Given the description of an element on the screen output the (x, y) to click on. 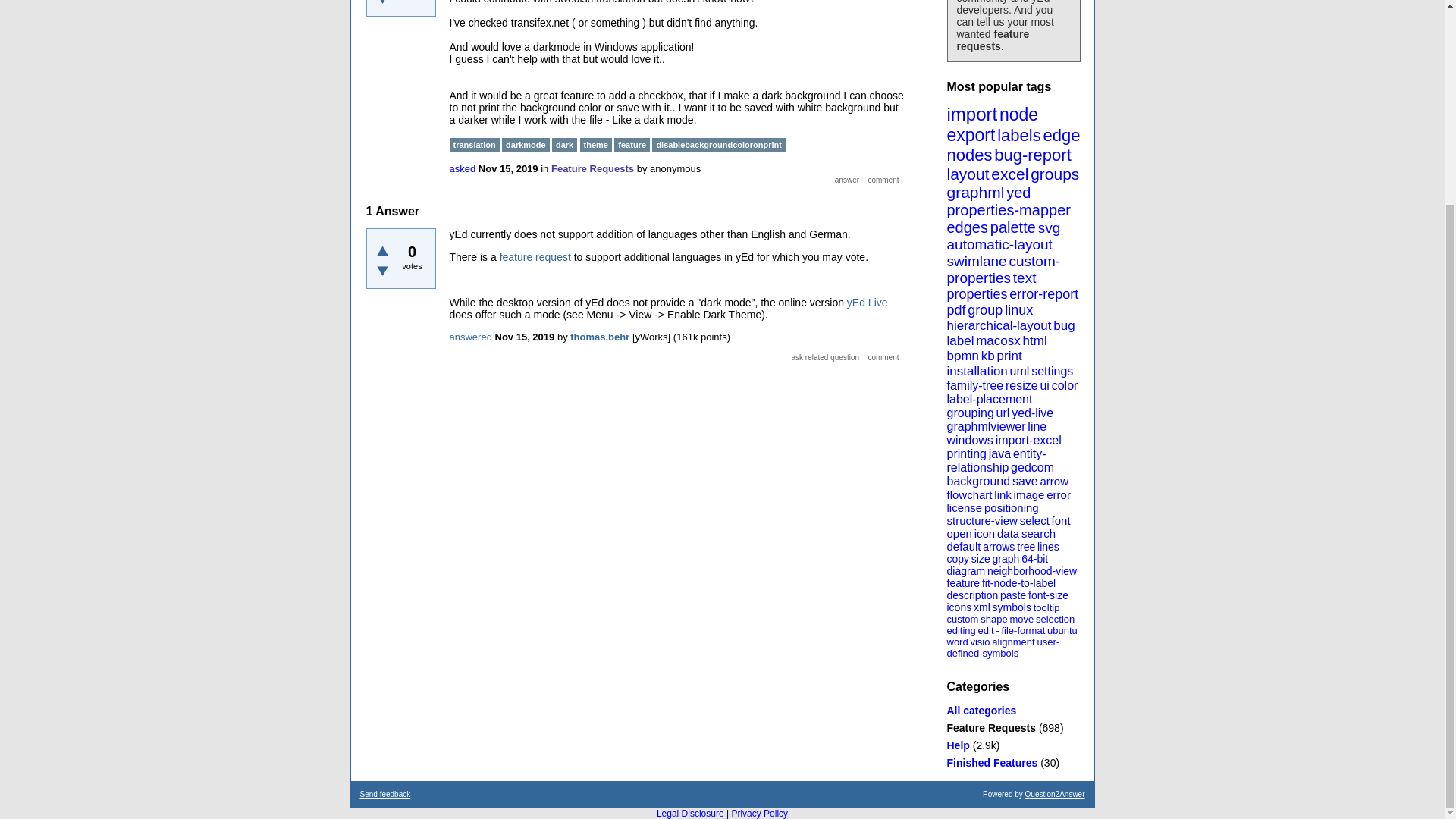
palette (1012, 227)
custom-properties (1002, 269)
bug-report (1032, 154)
node (1018, 114)
labels (1019, 135)
automatic-layout (998, 244)
ask related question (825, 357)
html (1034, 340)
properties-mapper (1008, 209)
Add a comment on this answer (882, 357)
linux (1018, 309)
Feature requests from yEd users that are now implemented. (991, 762)
Ask questions related to yEd here. (957, 745)
Request a new feature for yEd here. (990, 727)
label (960, 340)
